Given the description of an element on the screen output the (x, y) to click on. 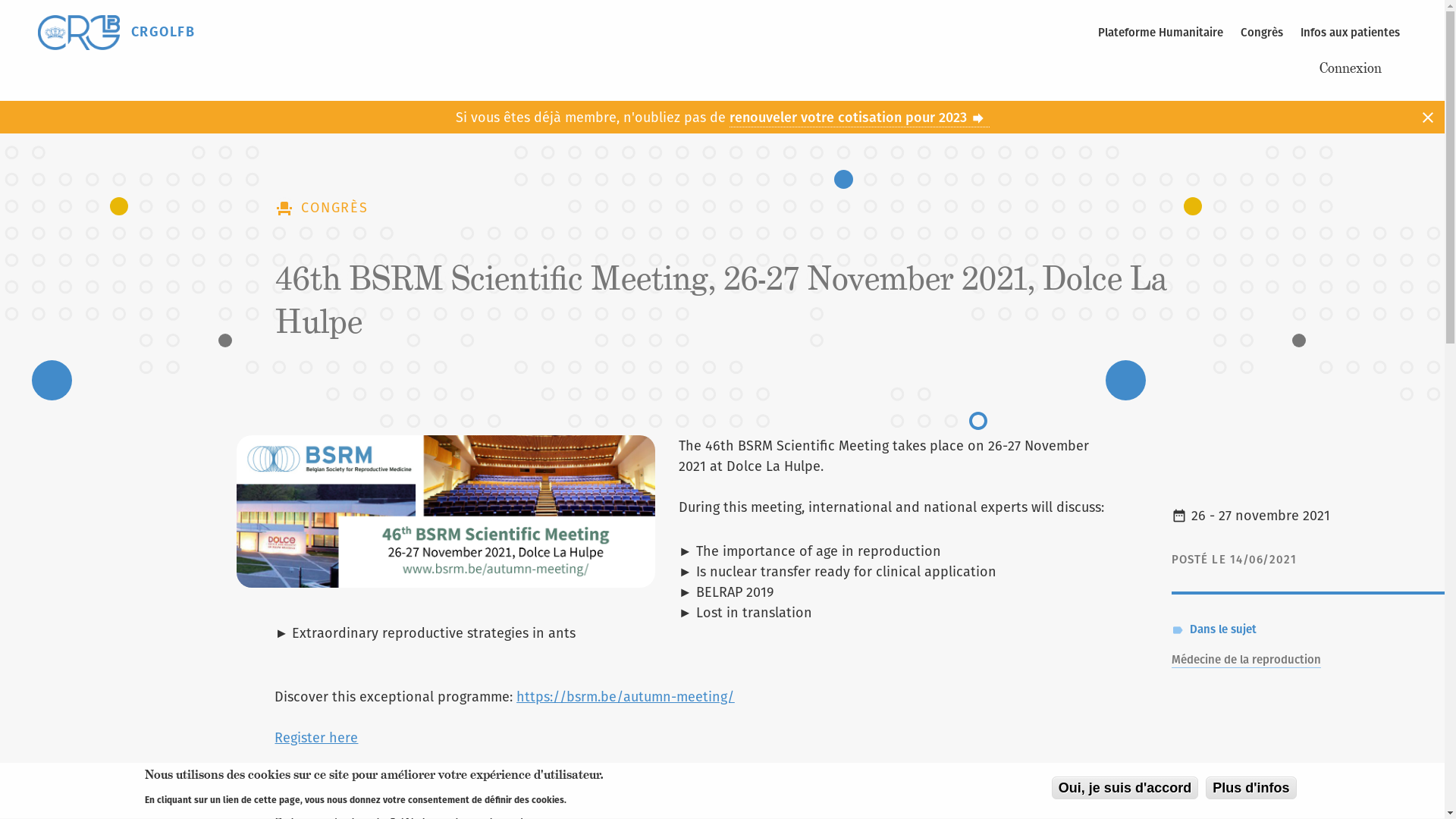
renouveler votre cotisation pour 2023 forward Element type: text (859, 117)
Plus d'infos Element type: text (1250, 788)
Connexion Element type: text (1356, 67)
Aller au contenu principal Element type: text (0, 0)
Infos aux patientes Element type: text (1349, 32)
Plateforme Humanitaire Element type: text (1160, 32)
Oui, je suis d'accord Element type: text (1124, 788)
Accueil Element type: hover (78, 32)
Register here Element type: text (315, 737)
https://bsrm.be/autumn-meeting/ Element type: text (625, 696)
CRGOLFB Element type: text (162, 30)
